Given the description of an element on the screen output the (x, y) to click on. 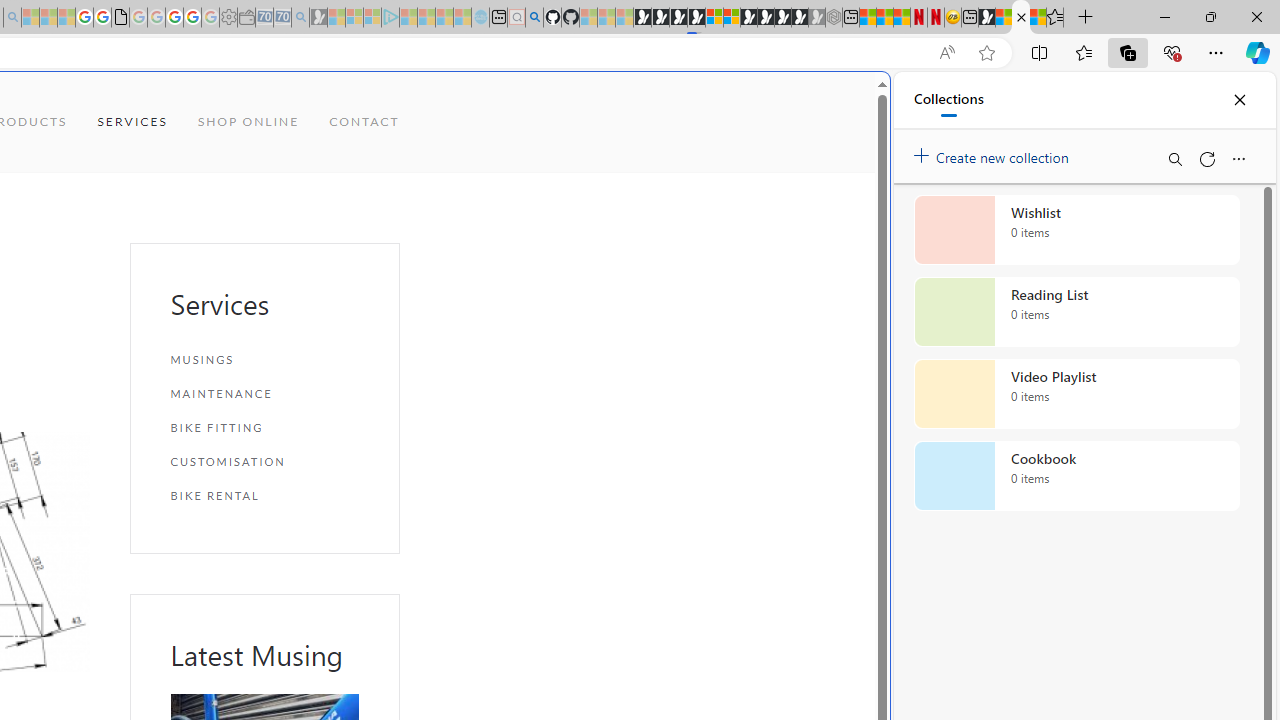
Create new collection (994, 153)
BIKE RENTAL (264, 495)
SERVICES (132, 122)
